Given the description of an element on the screen output the (x, y) to click on. 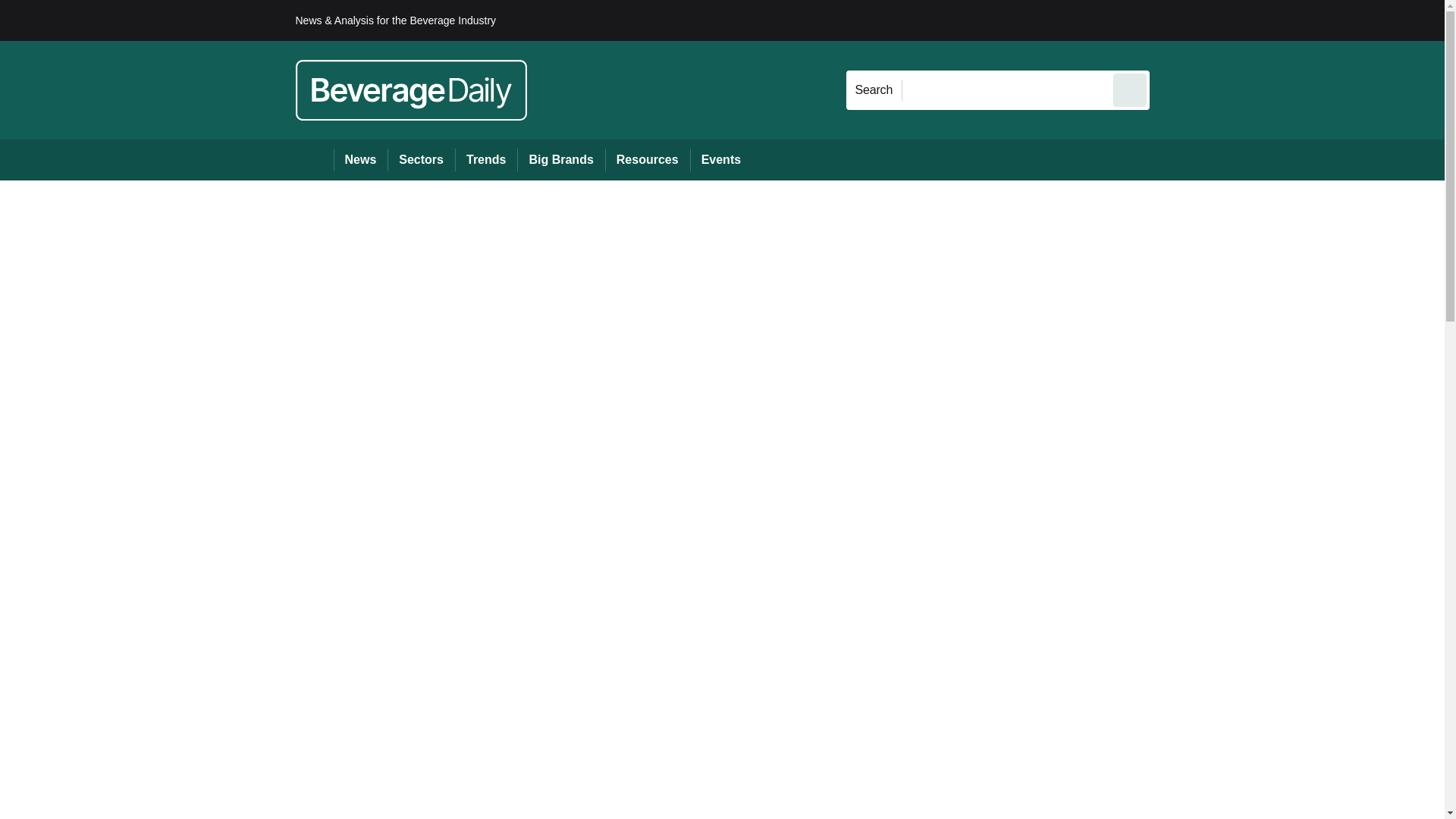
Sign in (1171, 20)
Home (314, 159)
Send (1129, 89)
My account (1256, 20)
News (360, 159)
Trends (485, 159)
Send (1129, 90)
Sign out (1174, 20)
Sectors (420, 159)
Home (313, 159)
BeverageDaily (411, 89)
REGISTER (1250, 20)
